Given the description of an element on the screen output the (x, y) to click on. 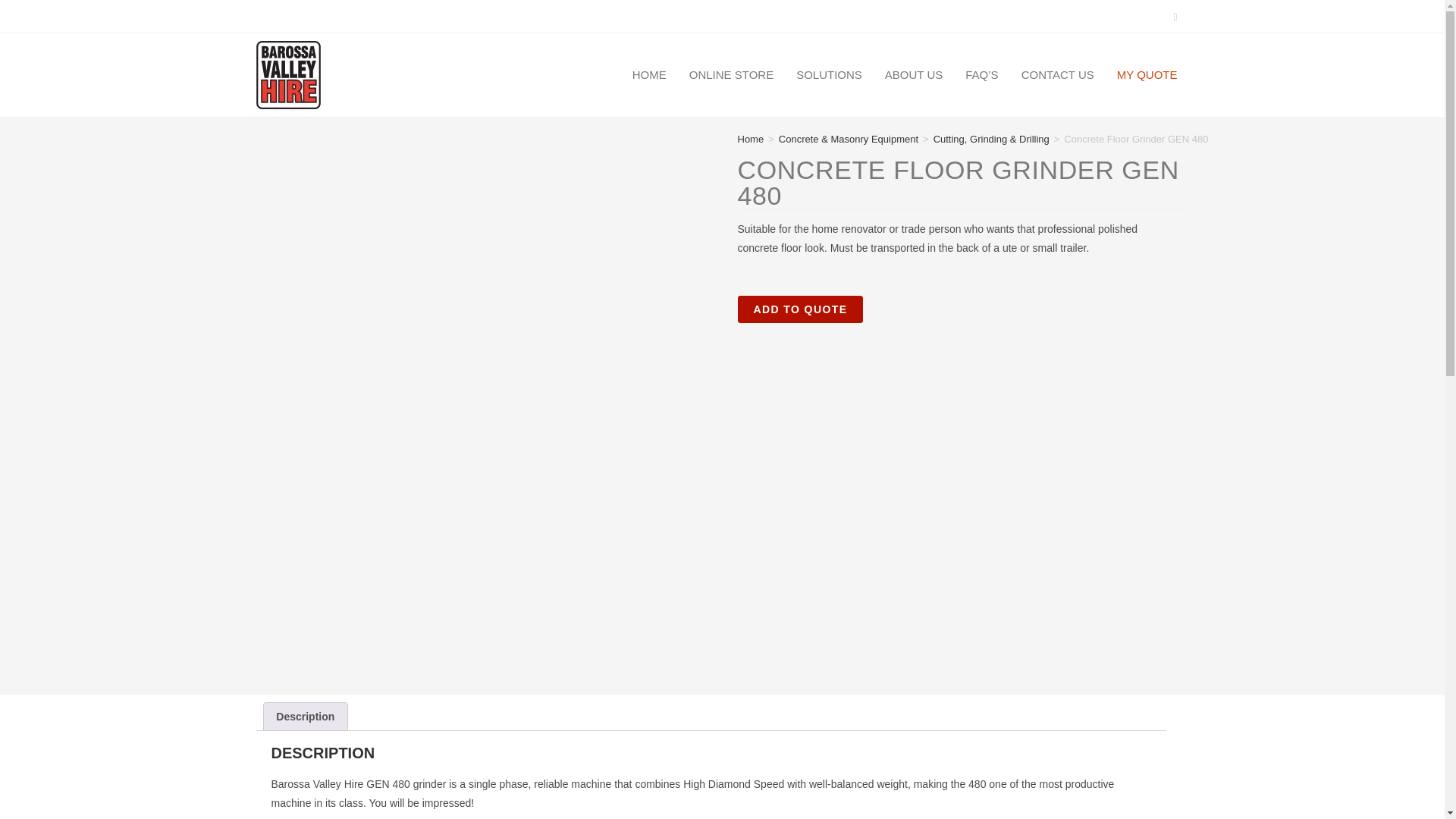
HOME (649, 74)
SOLUTIONS (828, 74)
ONLINE STORE (731, 74)
CONTACT US (1057, 74)
cropped-BVHire-Logo-Statement.jpg (288, 74)
ABOUT US (913, 74)
MY QUOTE (1147, 74)
